Given the description of an element on the screen output the (x, y) to click on. 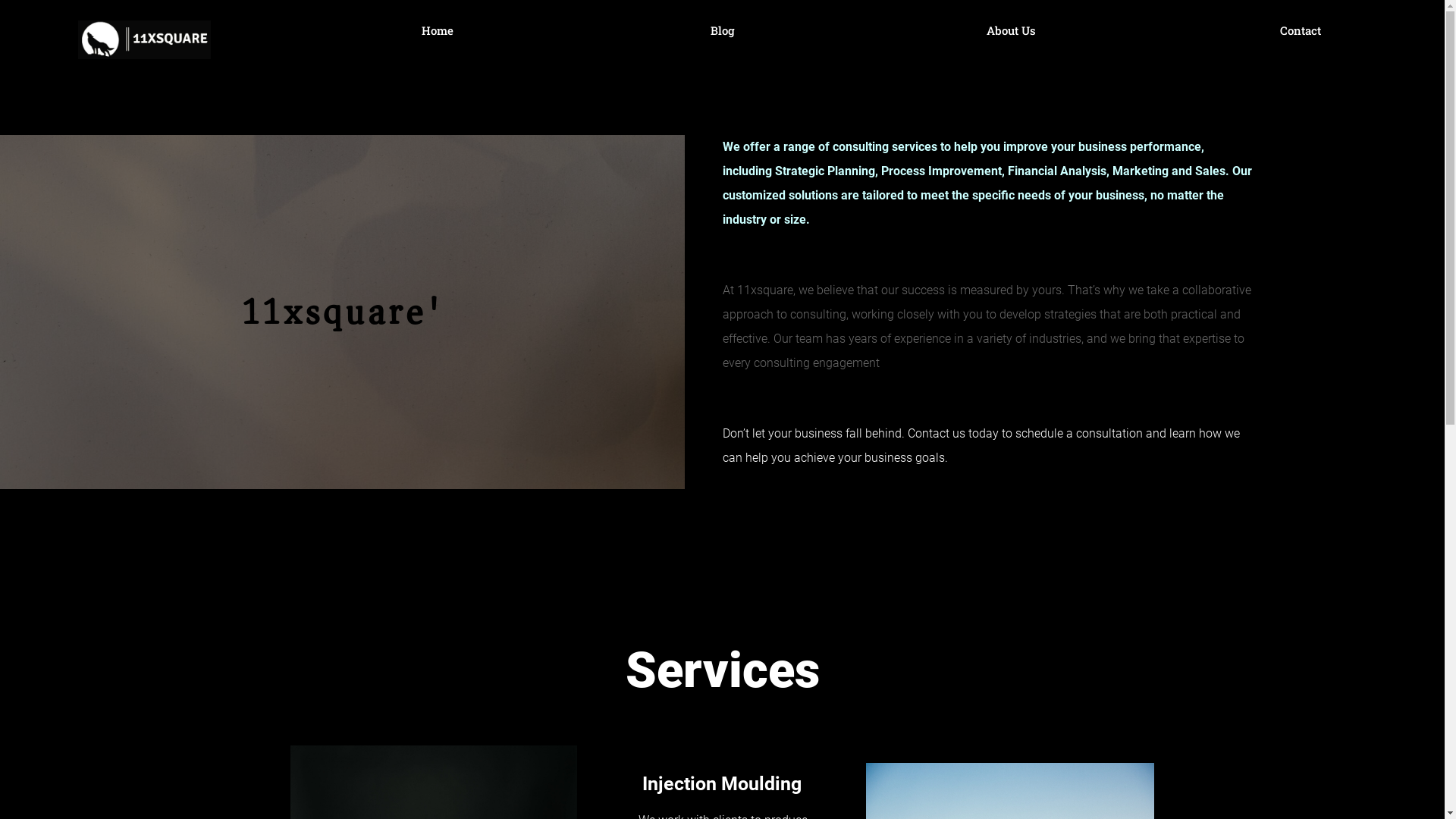
Contact Element type: text (1300, 30)
About Us Element type: text (1011, 30)
Blog Element type: text (721, 30)
Home Element type: text (437, 30)
